Given the description of an element on the screen output the (x, y) to click on. 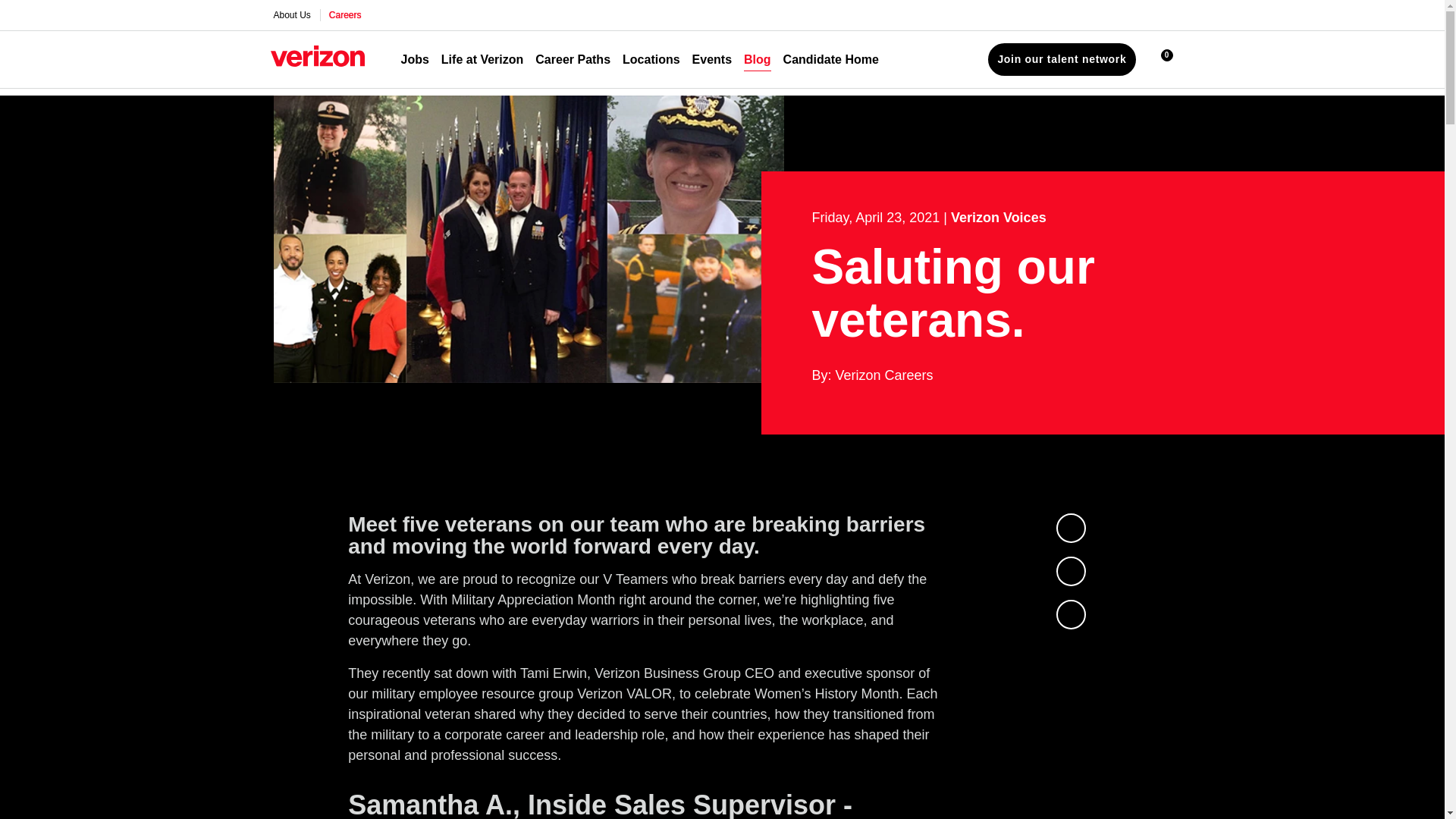
Life at Verizon (481, 59)
Jobs (414, 59)
About Us (290, 15)
Events (712, 59)
Candidate Home (831, 59)
Blog (757, 59)
Careers (345, 15)
Locations (651, 59)
Career Paths (572, 59)
